Given the description of an element on the screen output the (x, y) to click on. 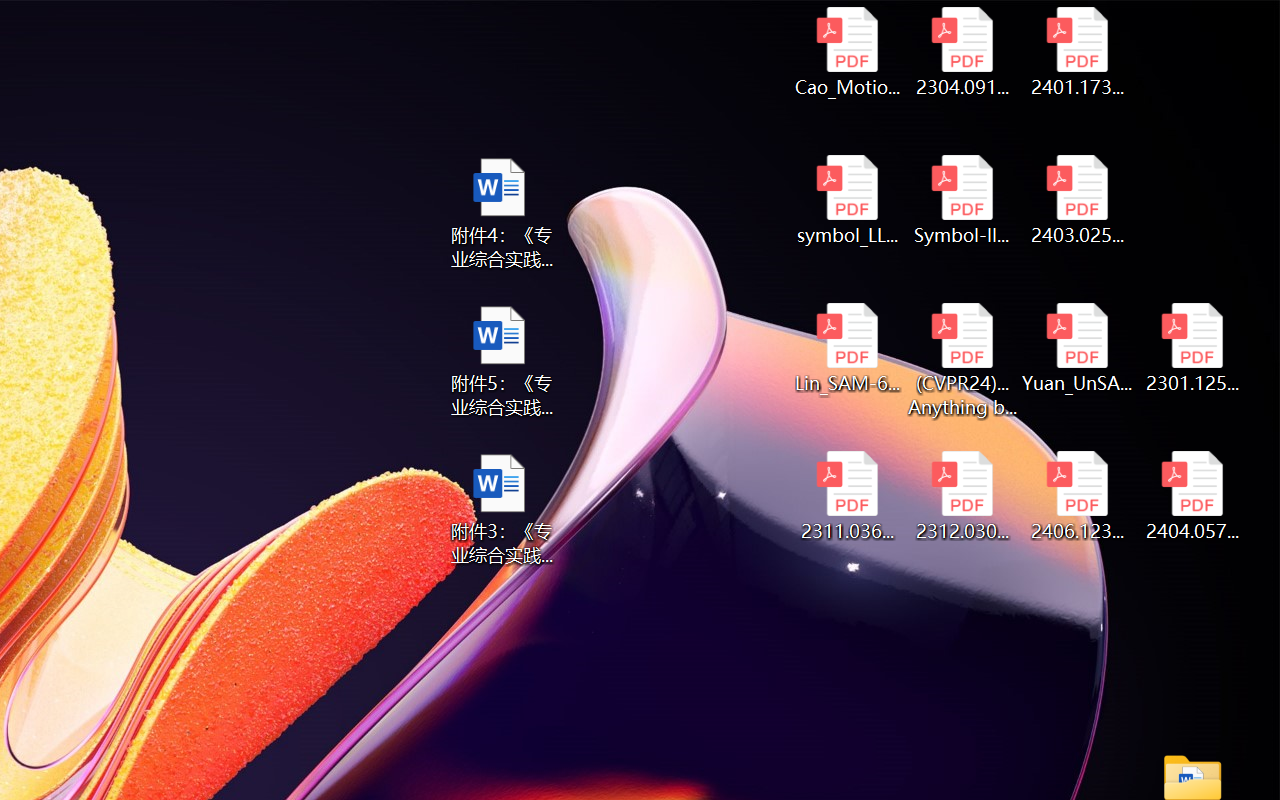
(CVPR24)Matching Anything by Segmenting Anything.pdf (962, 360)
2311.03658v2.pdf (846, 496)
Symbol-llm-v2.pdf (962, 200)
2401.17399v1.pdf (1077, 52)
2312.03032v2.pdf (962, 496)
2406.12373v2.pdf (1077, 496)
2304.09121v3.pdf (962, 52)
2404.05719v1.pdf (1192, 496)
symbol_LLM.pdf (846, 200)
